Given the description of an element on the screen output the (x, y) to click on. 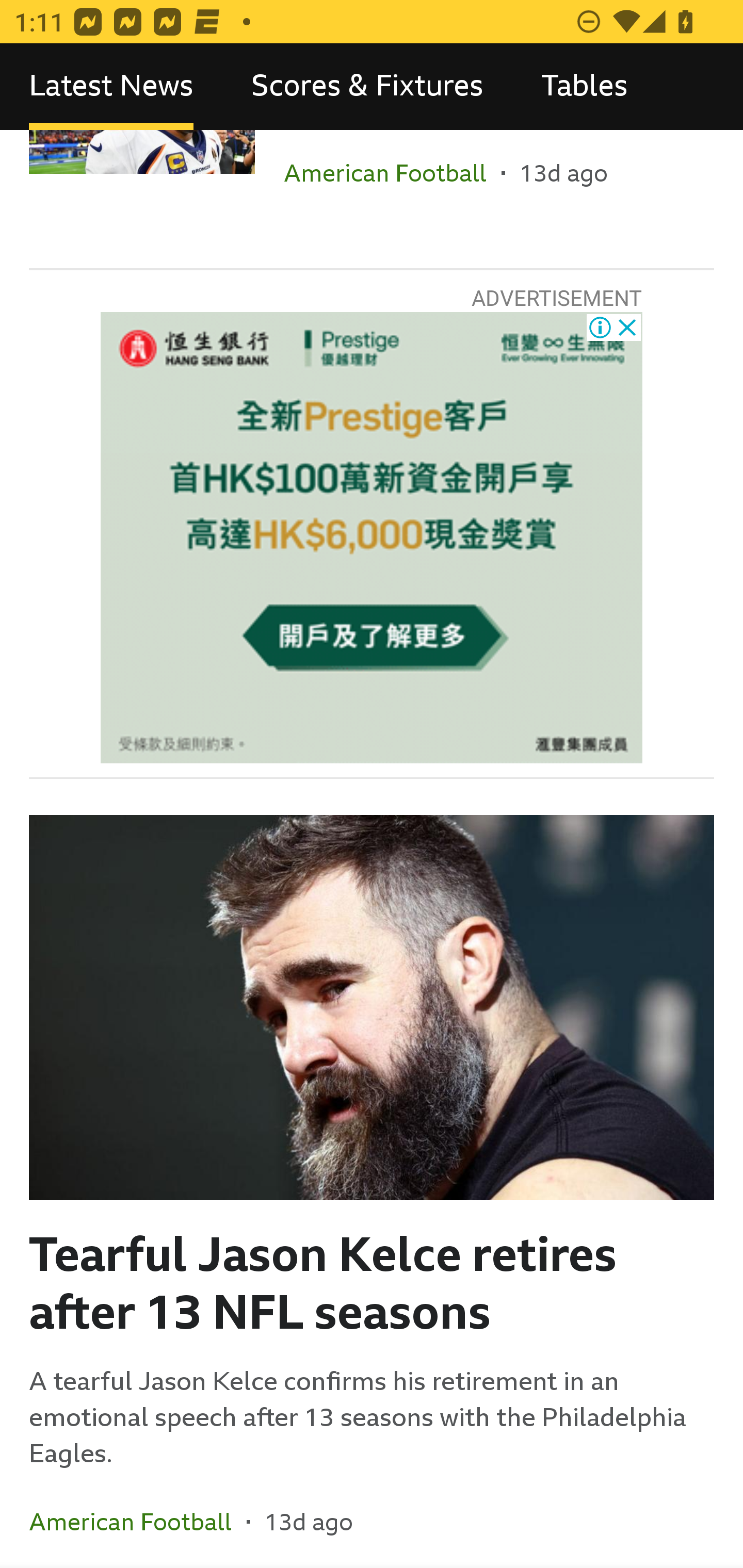
Latest News, selected Latest News (111, 86)
Scores & Fixtures (367, 86)
Tables (584, 86)
Advertisement (371, 537)
